Given the description of an element on the screen output the (x, y) to click on. 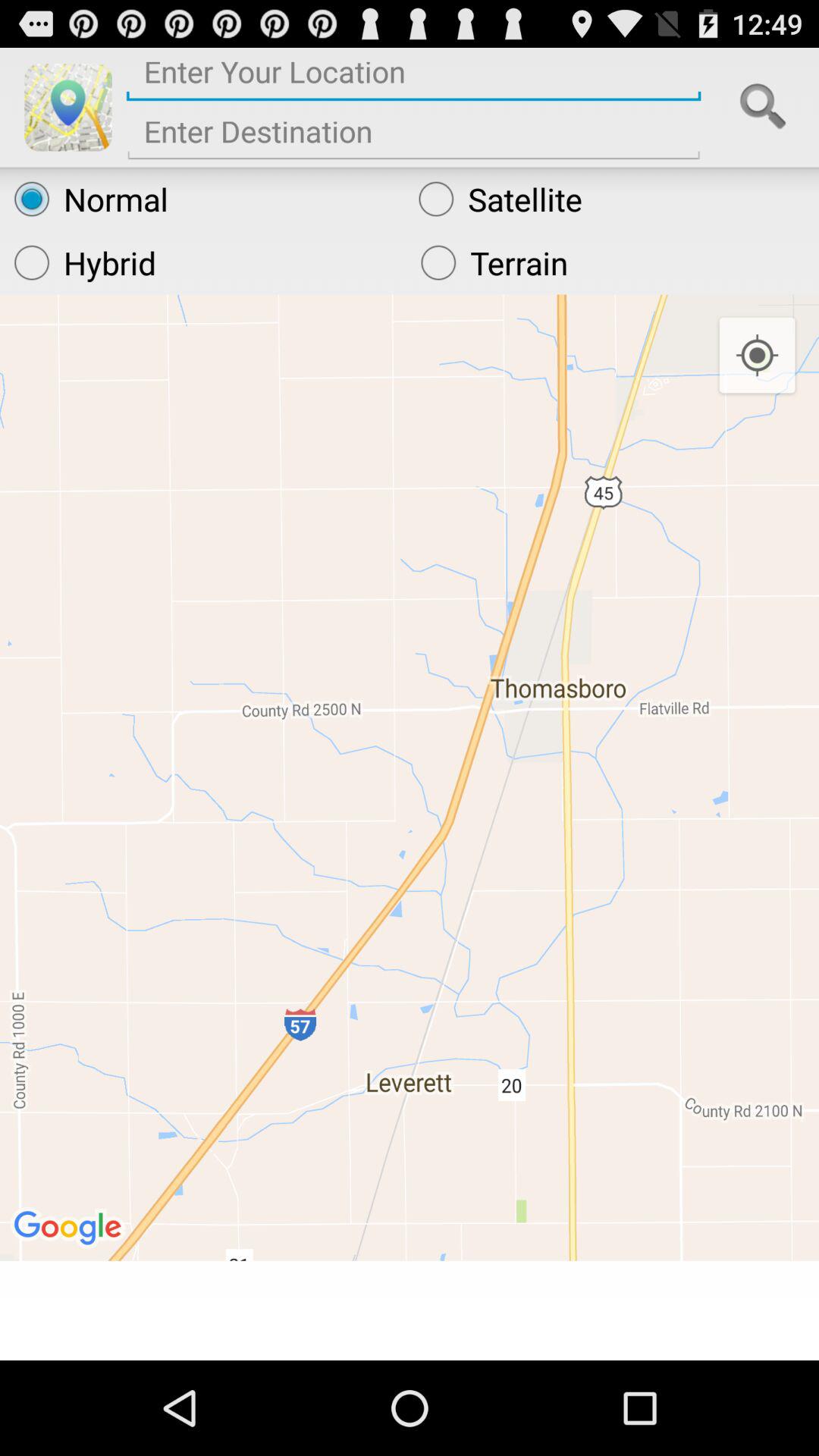
launch radio button to the right of hybrid icon (612, 262)
